Given the description of an element on the screen output the (x, y) to click on. 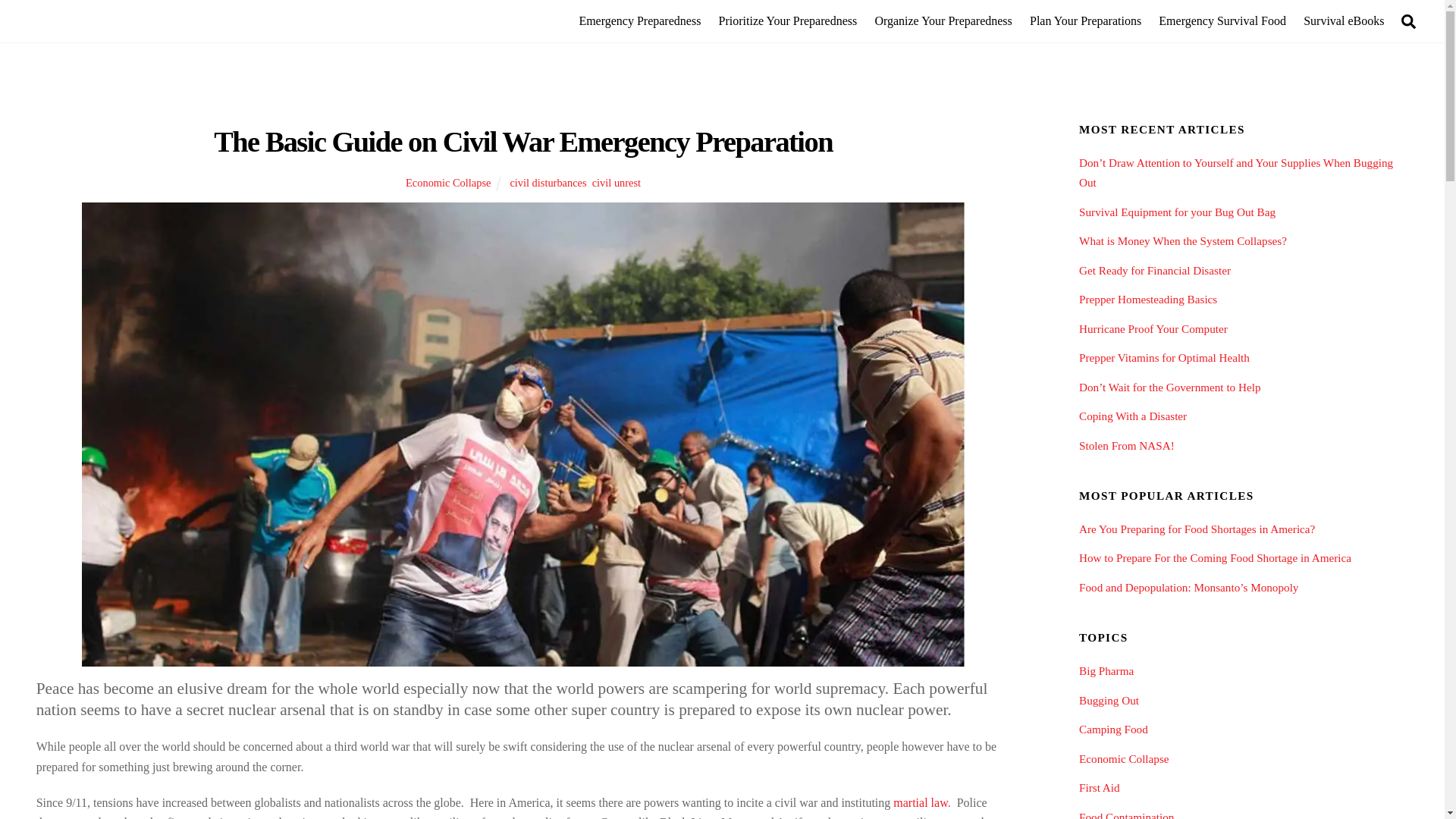
Prepper Vitamins for Optimal Health (1163, 357)
Prioritize Your Preparedness (787, 21)
Get Ready for Financial Disaster (1154, 269)
What is Money When the System Collapses? (1182, 240)
The Basic Guide on Civil War Emergency Preparation (523, 142)
Hurricane Proof Your Computer (1152, 328)
Coping With a Disaster (1132, 415)
How to Prepare For the Coming Food Shortage in America (1214, 557)
Prepper Homesteading Basics (1147, 298)
